Given the description of an element on the screen output the (x, y) to click on. 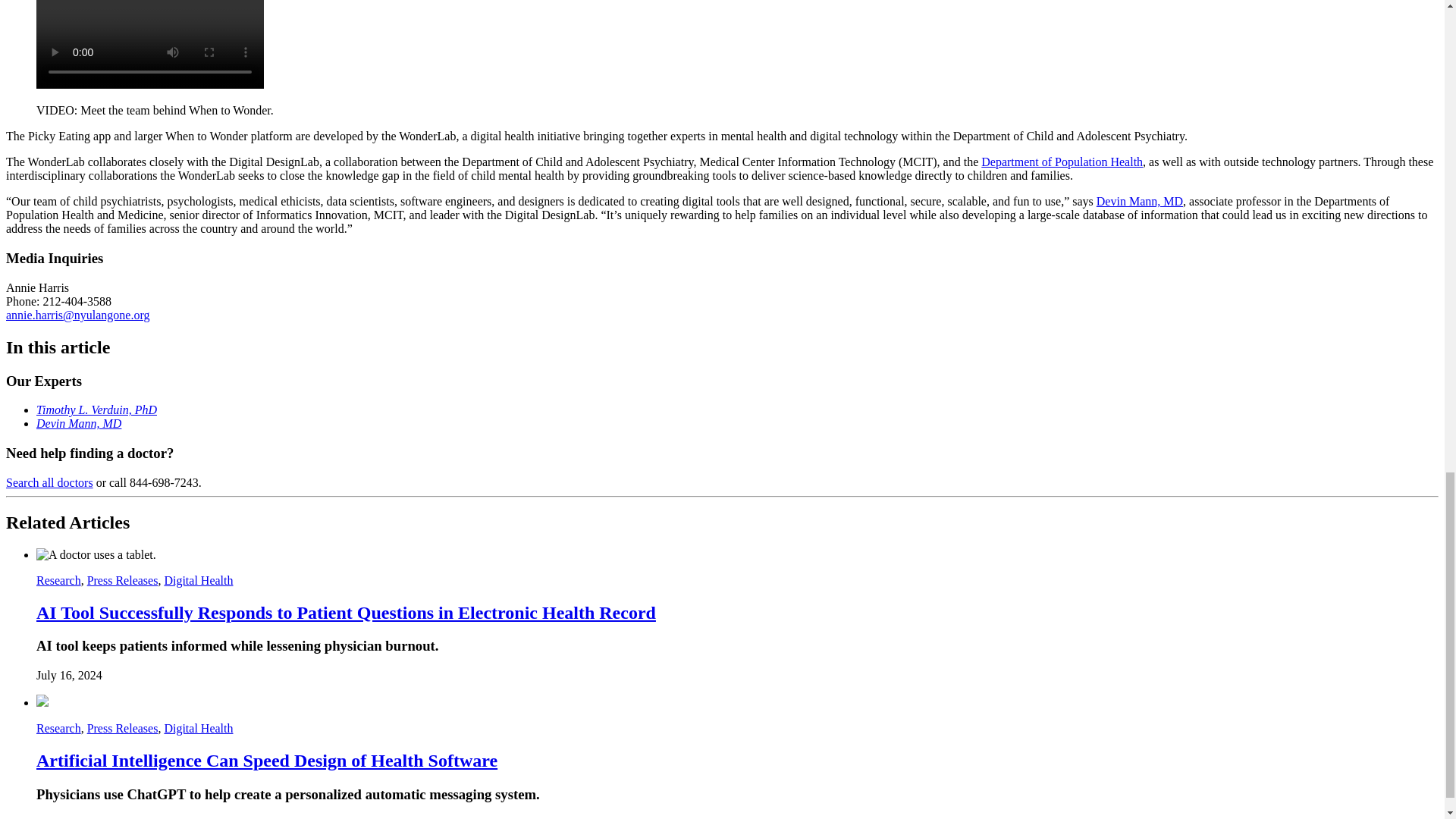
Artificial Intelligence Can Speed Design of Health Software (266, 760)
Search all doctors (49, 481)
Digital Health (197, 580)
Research (58, 727)
Devin Mann, MD (78, 422)
Digital Health (197, 727)
Timothy L. Verduin, PhD (96, 409)
Department of Population Health (1061, 161)
Research (58, 580)
